Given the description of an element on the screen output the (x, y) to click on. 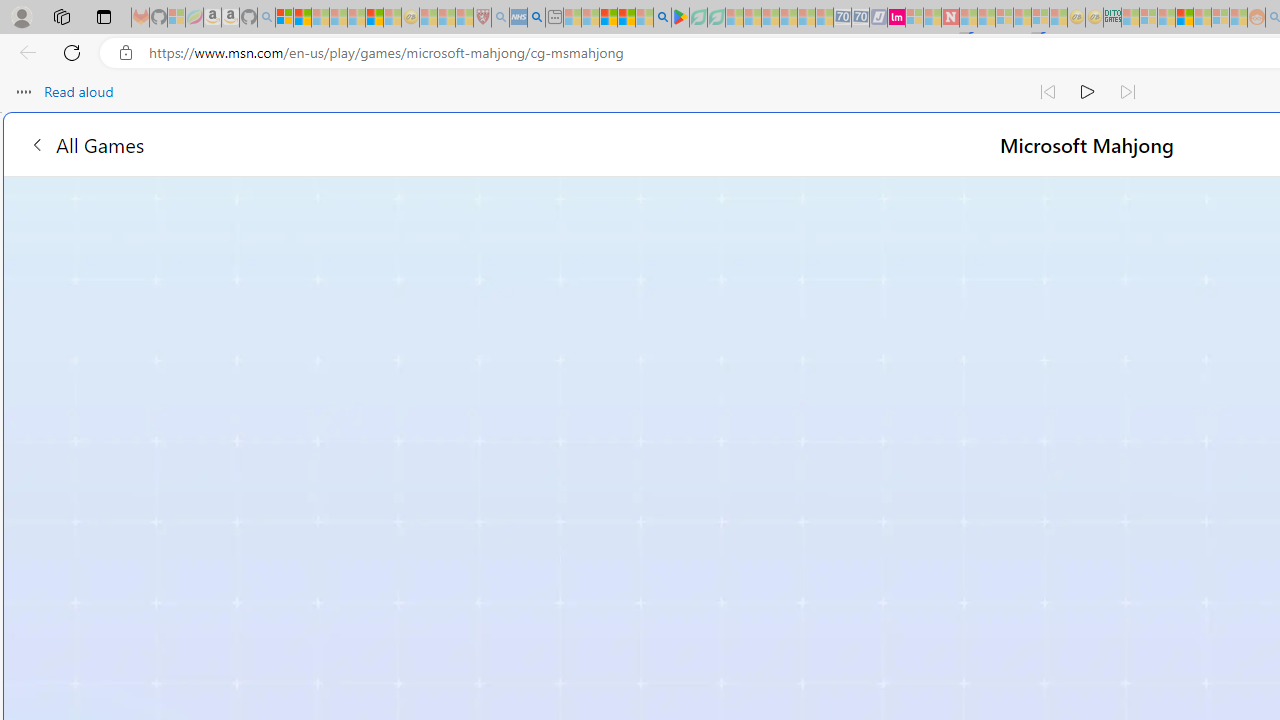
Read next paragraph (1128, 92)
Continue to read aloud (Ctrl+Shift+U) (1087, 92)
Microsoft Start - Sleeping (932, 17)
Recipes - MSN - Sleeping (427, 17)
utah sues federal government - Search (536, 17)
Robert H. Shmerling, MD - Harvard Health - Sleeping (482, 17)
View site information (125, 53)
All Games (380, 143)
Latest Politics News & Archive | Newsweek.com - Sleeping (950, 17)
